Given the description of an element on the screen output the (x, y) to click on. 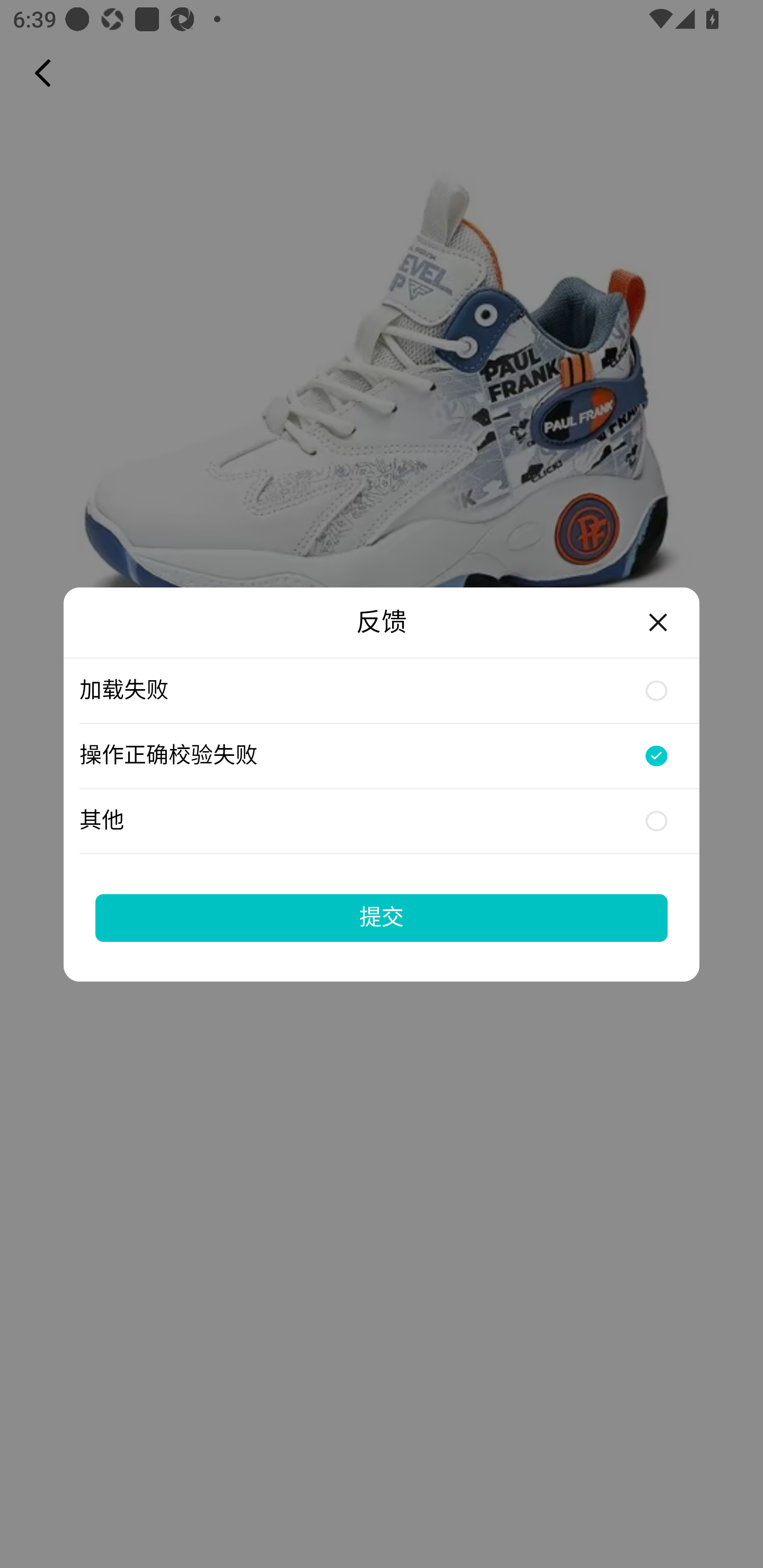
提交 (381, 917)
